Given the description of an element on the screen output the (x, y) to click on. 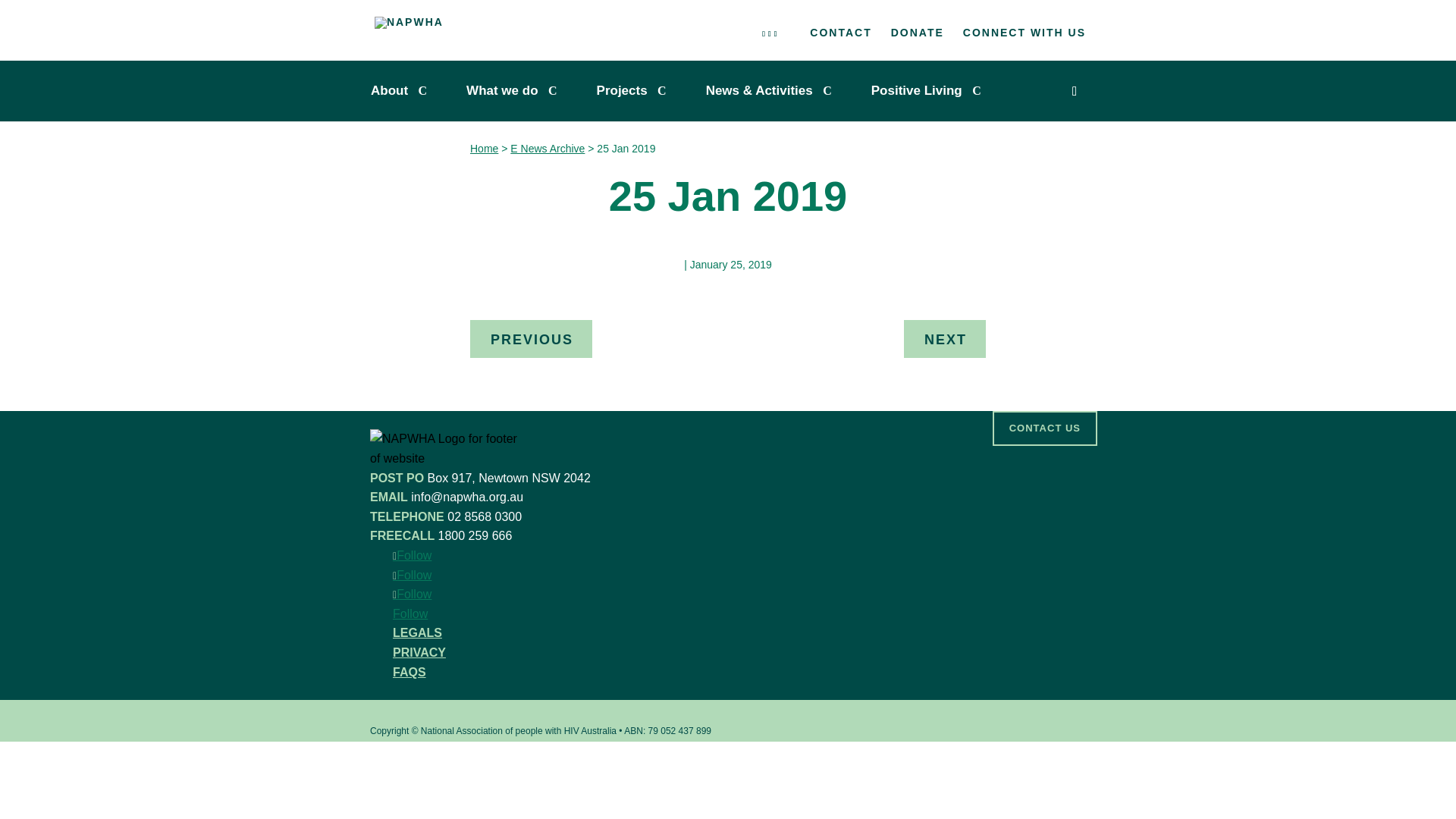
Positive Living Element type: text (929, 90)
Follow Element type: text (409, 613)
What we do Element type: text (514, 90)
Projects Element type: text (635, 90)
CONTACT US Element type: text (1044, 428)
NEXT Element type: text (944, 338)
NAPWHA Logo for footer of website Element type: hover (444, 448)
About Element type: text (402, 90)
Home Element type: text (484, 148)
CONTACT Element type: text (840, 36)
DONATE Element type: text (917, 36)
News & Activities Element type: text (772, 90)
E News Archive Element type: text (547, 148)
Follow Element type: text (411, 555)
PREVIOUS Element type: text (531, 338)
Follow Element type: text (411, 574)
CONNECT WITH US Element type: text (1024, 36)
Follow Element type: text (411, 593)
